Given the description of an element on the screen output the (x, y) to click on. 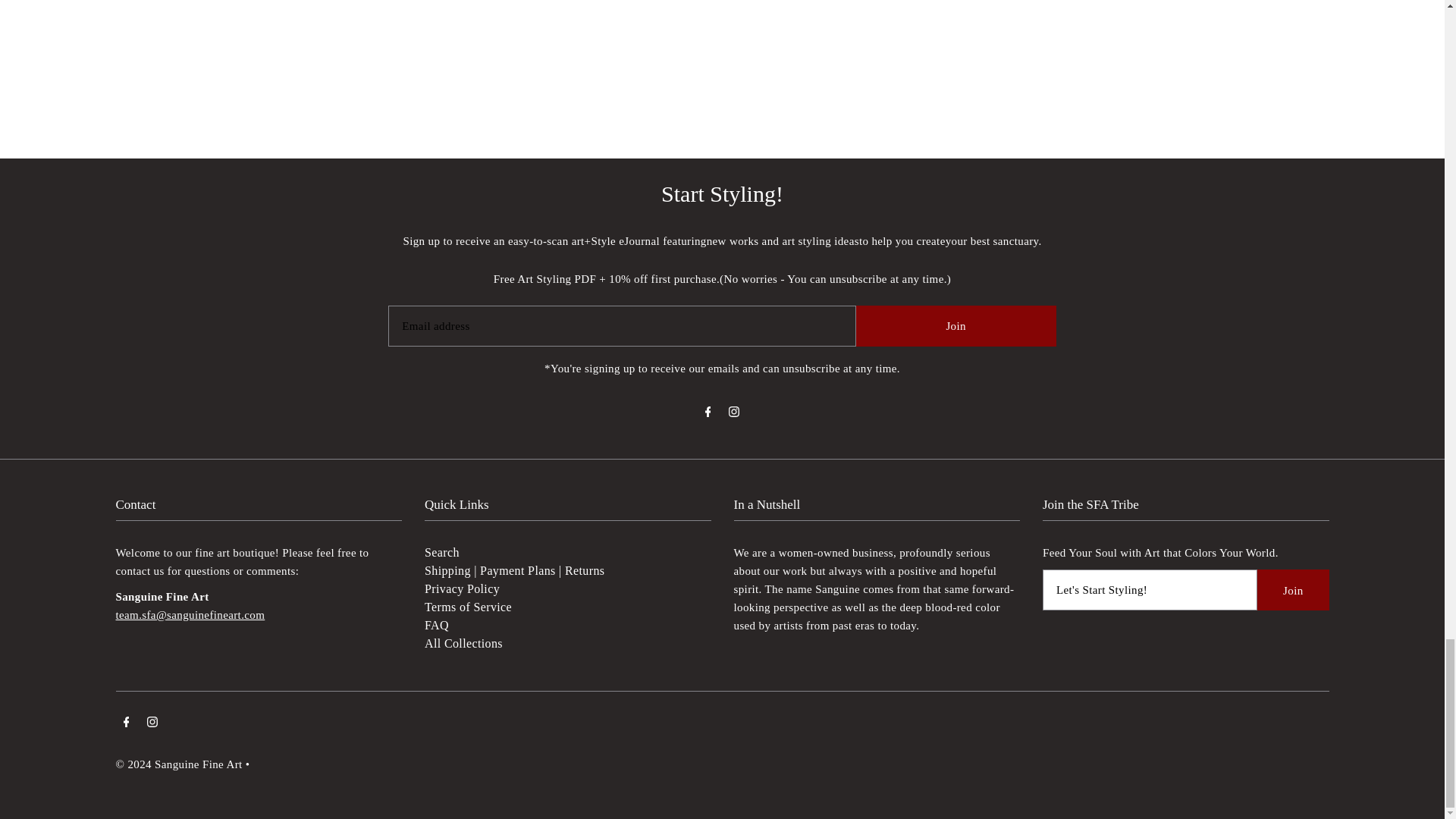
Join (1292, 589)
